Given the description of an element on the screen output the (x, y) to click on. 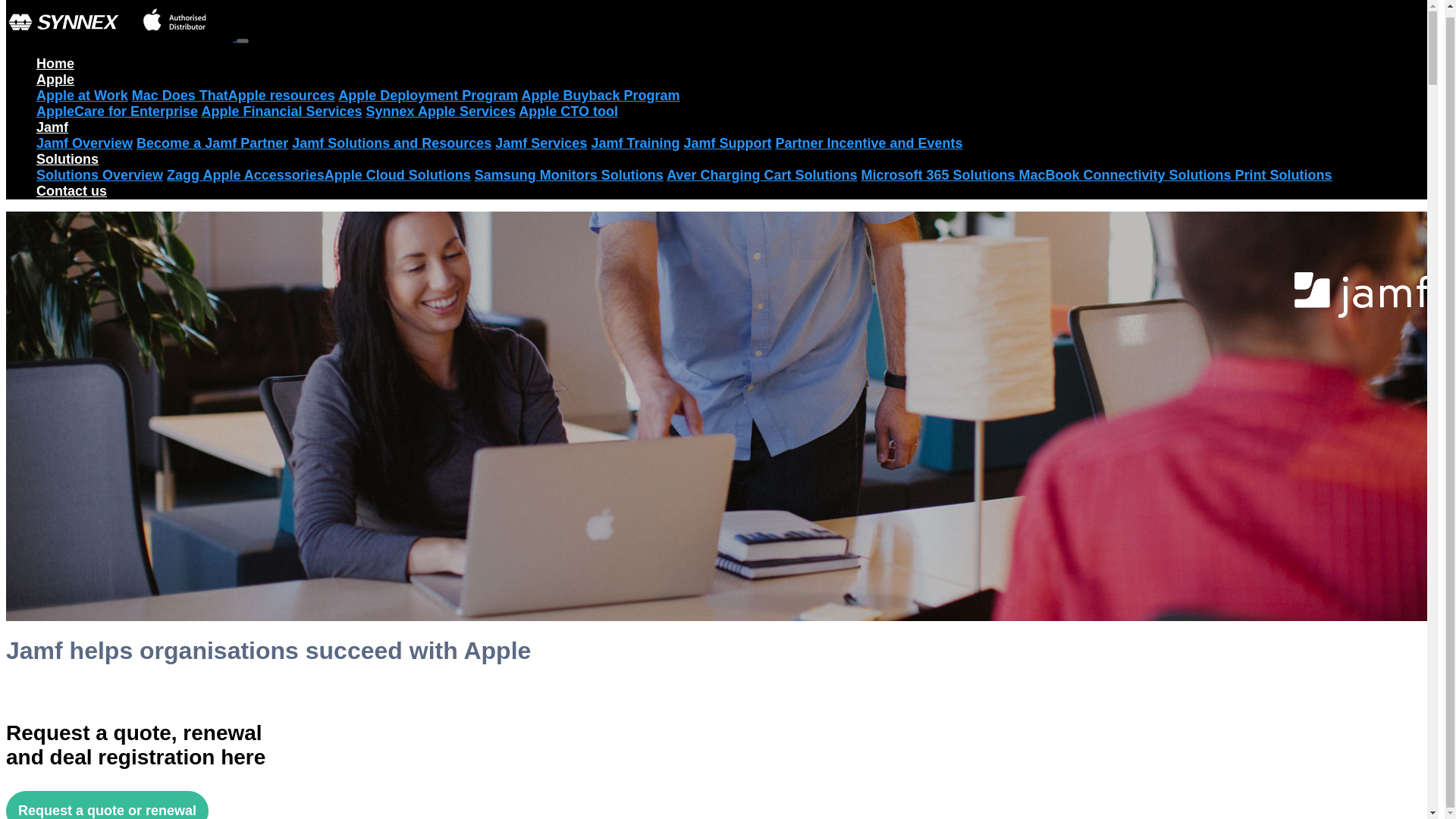
Apple Deployment Program (427, 95)
Apple Buyback Program (600, 95)
Jamf Services (540, 142)
Apple (55, 79)
Jamf Overview (84, 142)
Contact us (71, 191)
Microsoft 365 Solutions (940, 174)
Print Solutions (1283, 174)
Jamf Solutions and Resources (392, 142)
Request a quote or renewal (106, 805)
